Given the description of an element on the screen output the (x, y) to click on. 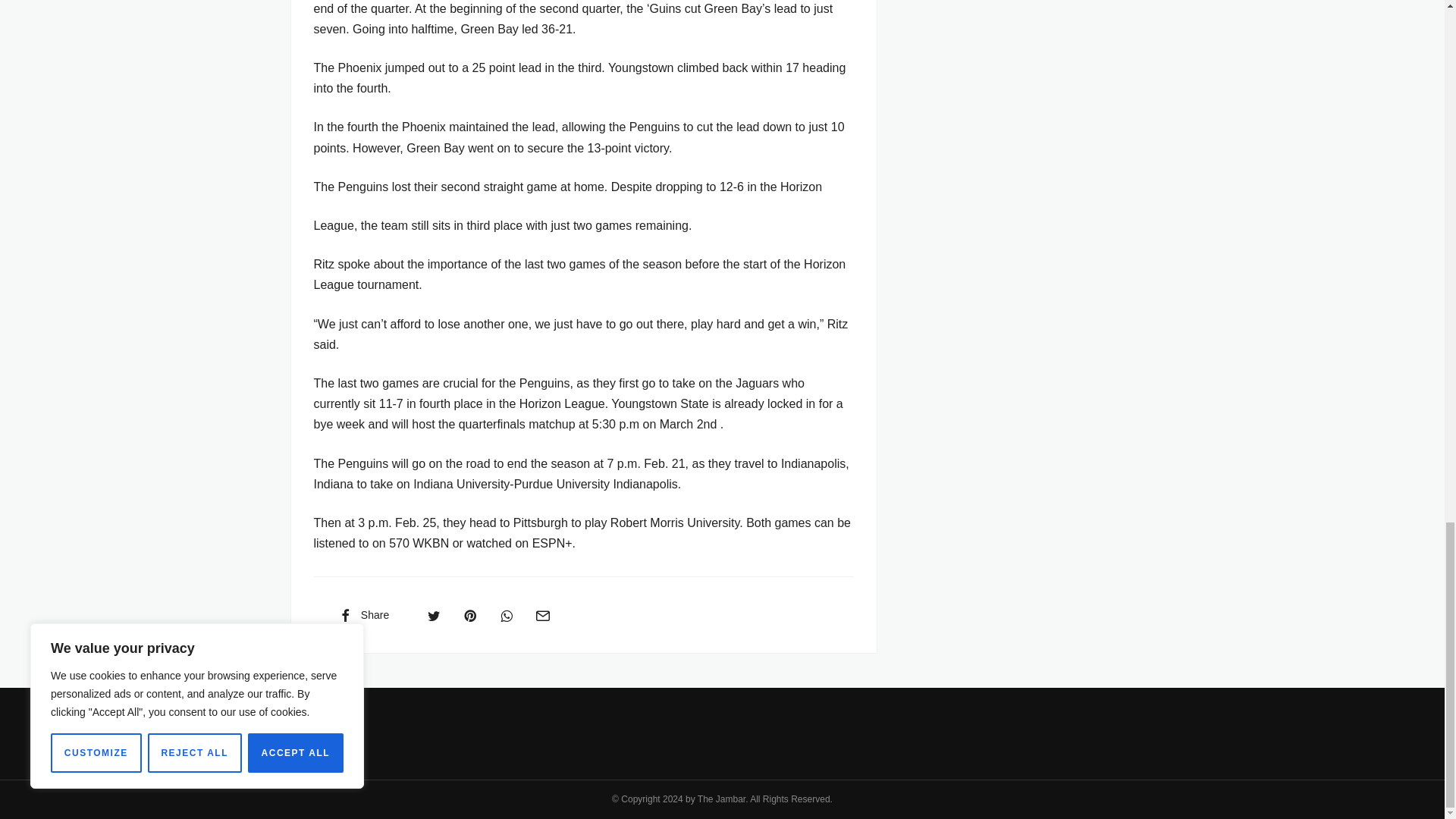
Share on Twitter (433, 614)
Share on Whatsapp (506, 614)
Share on Facebook (363, 614)
Share via Email (542, 614)
Pin this Post (469, 614)
